Given the description of an element on the screen output the (x, y) to click on. 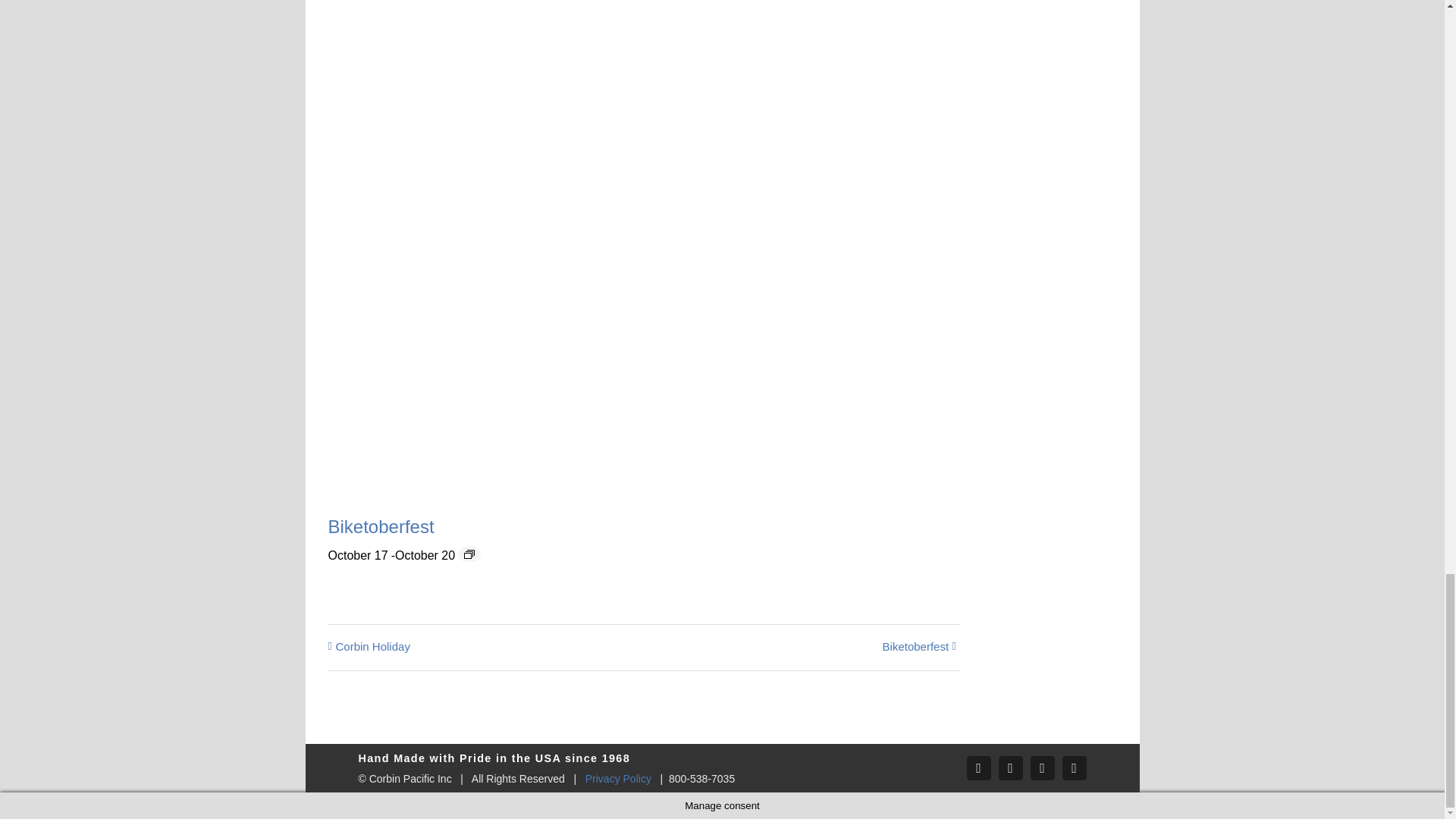
Instagram (1041, 767)
Facebook (978, 767)
Twitter (1009, 767)
YouTube (1073, 767)
Event Series (469, 553)
